Given the description of an element on the screen output the (x, y) to click on. 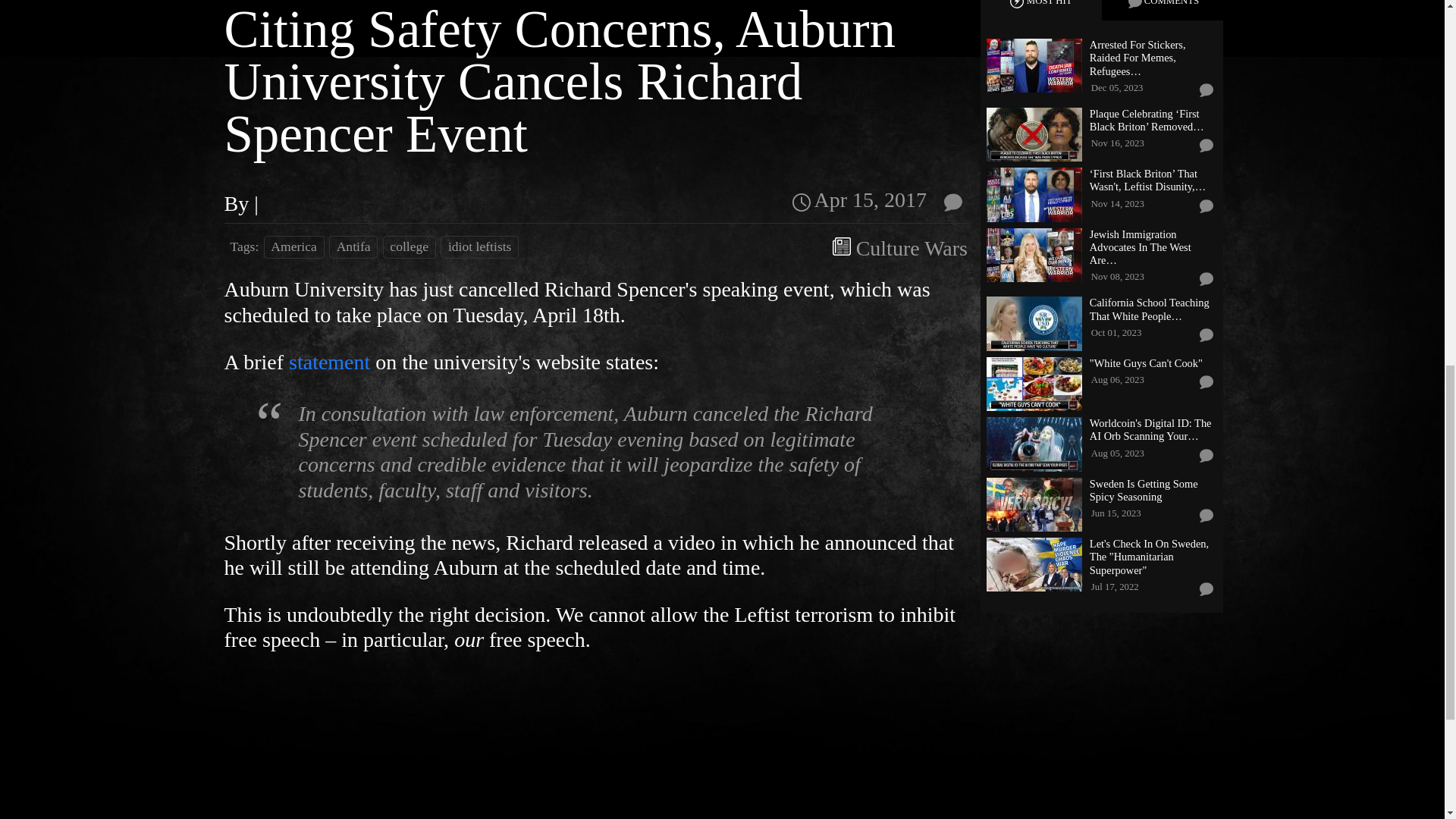
Antifa (353, 246)
America (293, 246)
Culture Wars (912, 248)
idiot leftists (479, 246)
statement (328, 361)
college (408, 246)
